Given the description of an element on the screen output the (x, y) to click on. 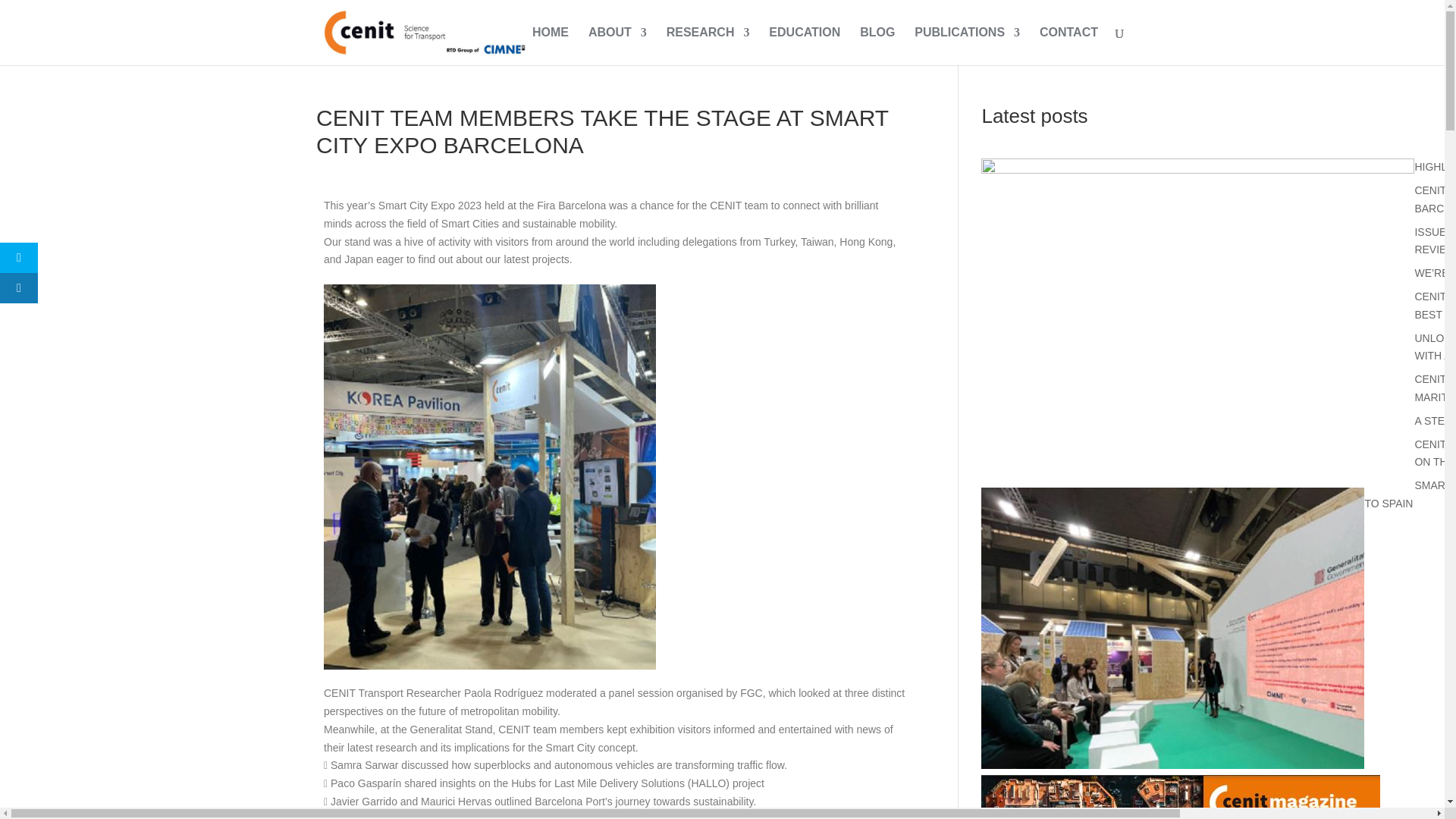
PUBLICATIONS (967, 46)
BLOG (877, 46)
RESEARCH (707, 46)
HIGHLIGHTS FROM OUR LAST MILE DISTRIBUTION COURSE (1434, 166)
EDUCATION (804, 46)
HOME (550, 46)
CONTACT (1068, 46)
A STEP FORWARD FOR SUSTAINABLE MOBILITY IN COSTA RICA (1434, 420)
ABOUT (617, 46)
